Given the description of an element on the screen output the (x, y) to click on. 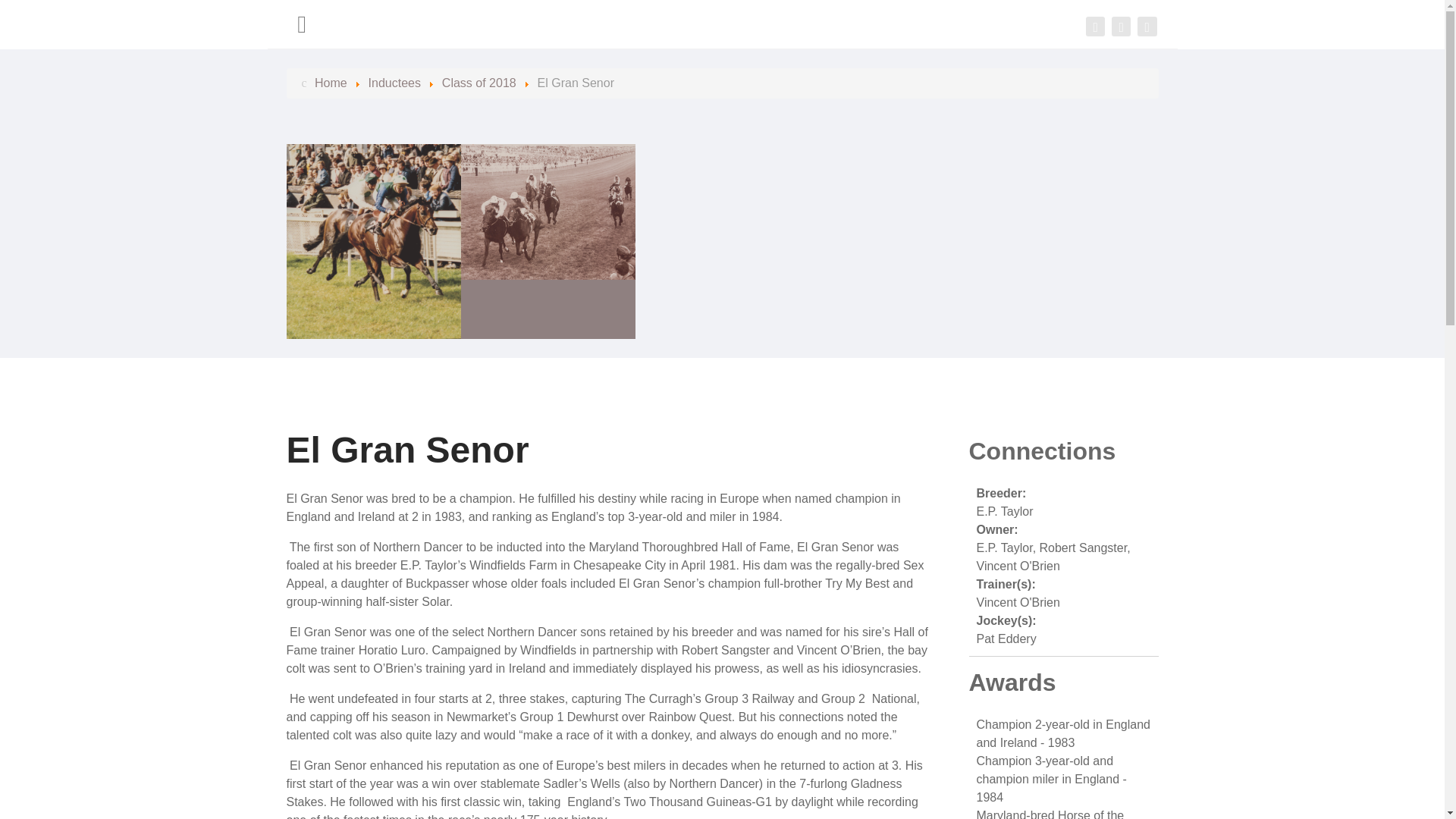
Maryland Thoroughbred Hall of Fame (722, 23)
